Given the description of an element on the screen output the (x, y) to click on. 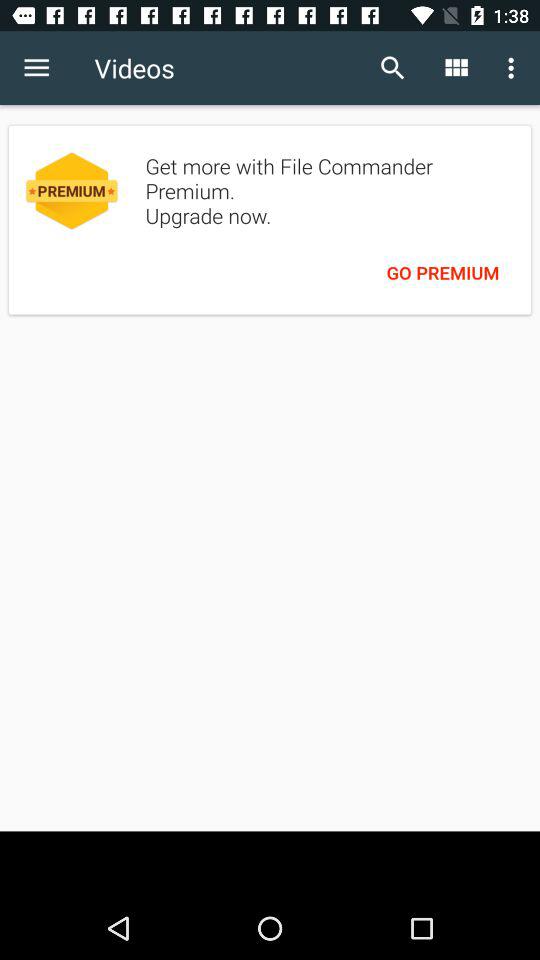
tap the icon above get more with icon (513, 67)
